Given the description of an element on the screen output the (x, y) to click on. 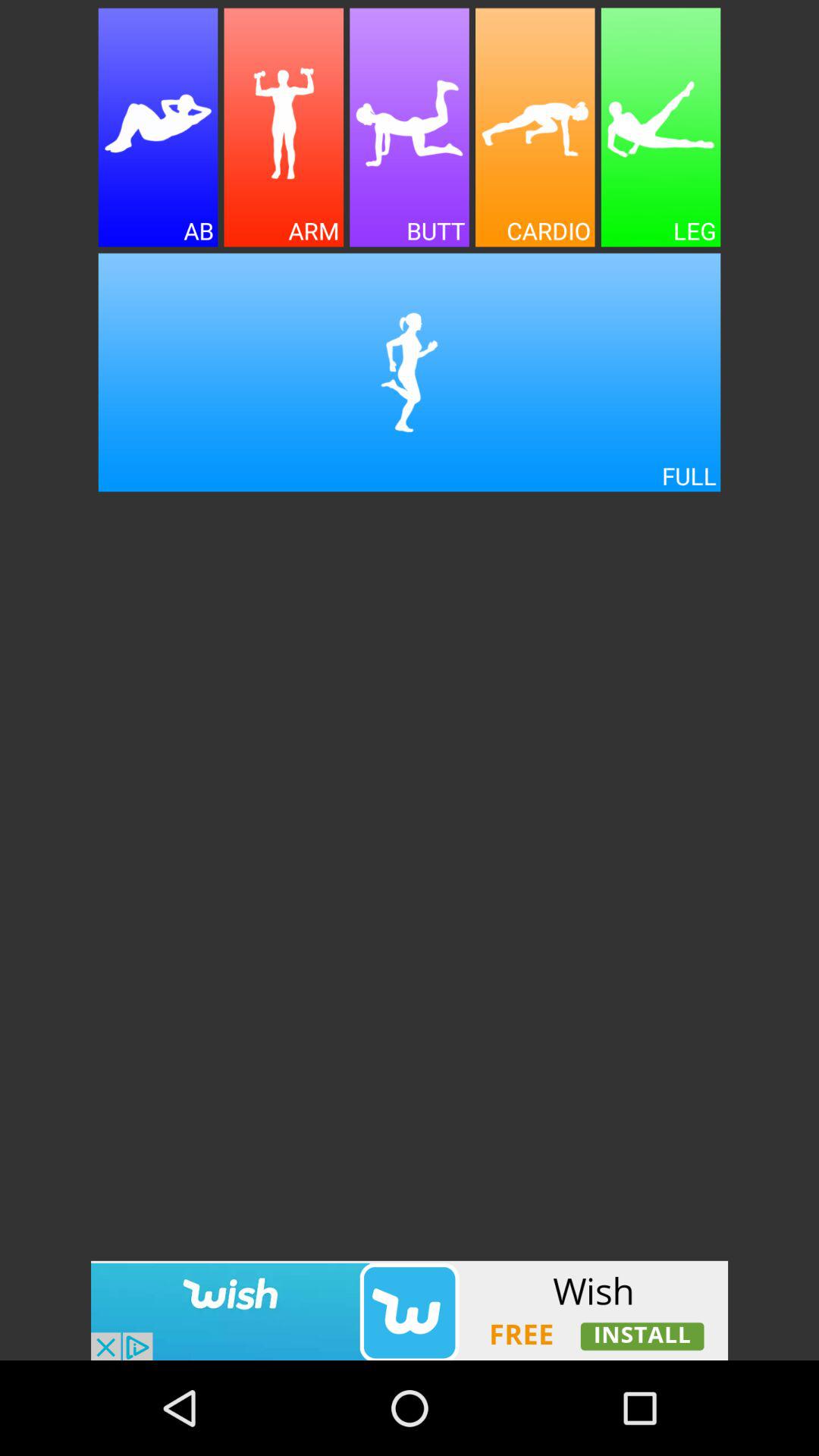
select leg (660, 126)
